Given the description of an element on the screen output the (x, y) to click on. 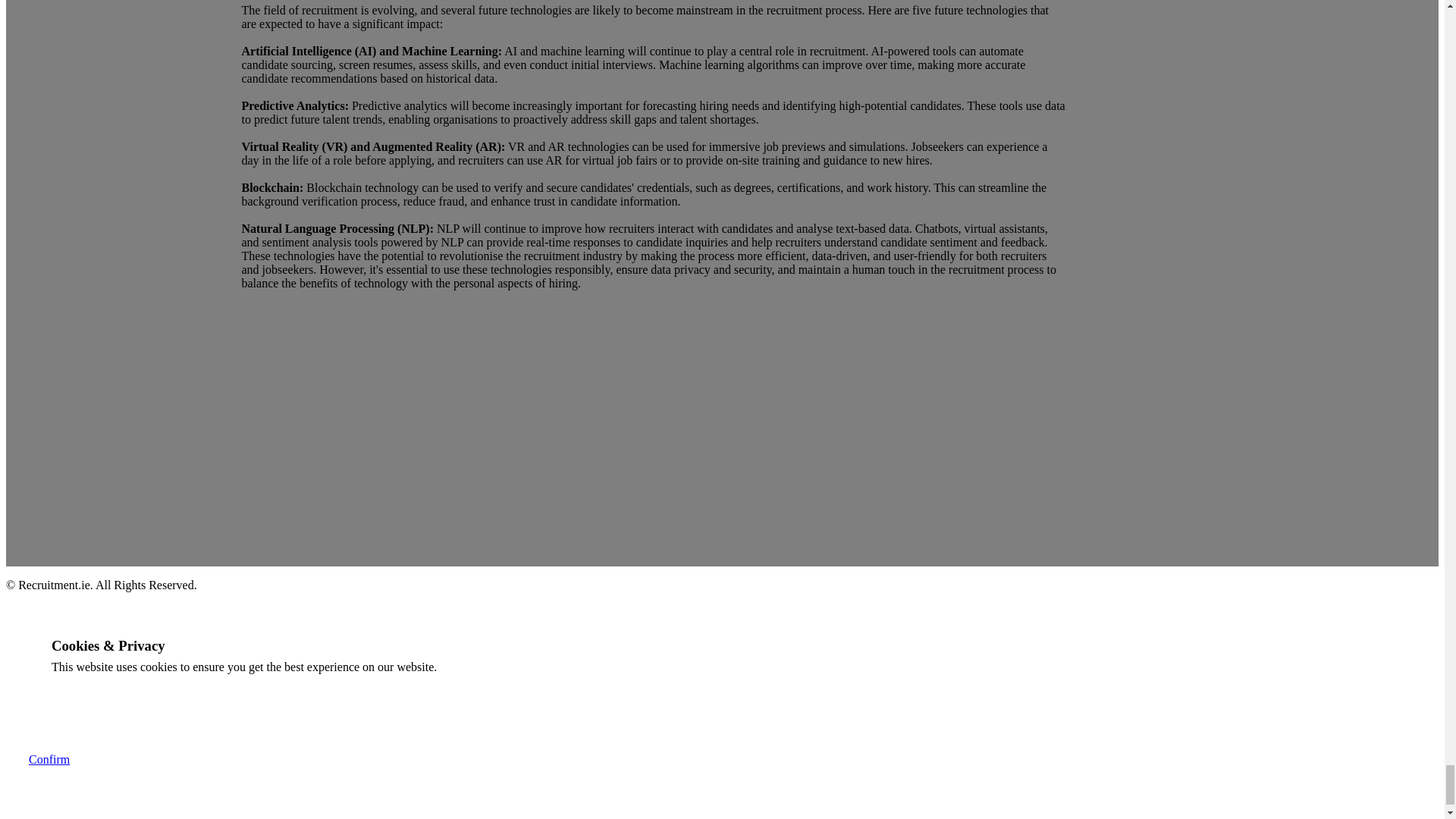
Confirm (49, 758)
